Given the description of an element on the screen output the (x, y) to click on. 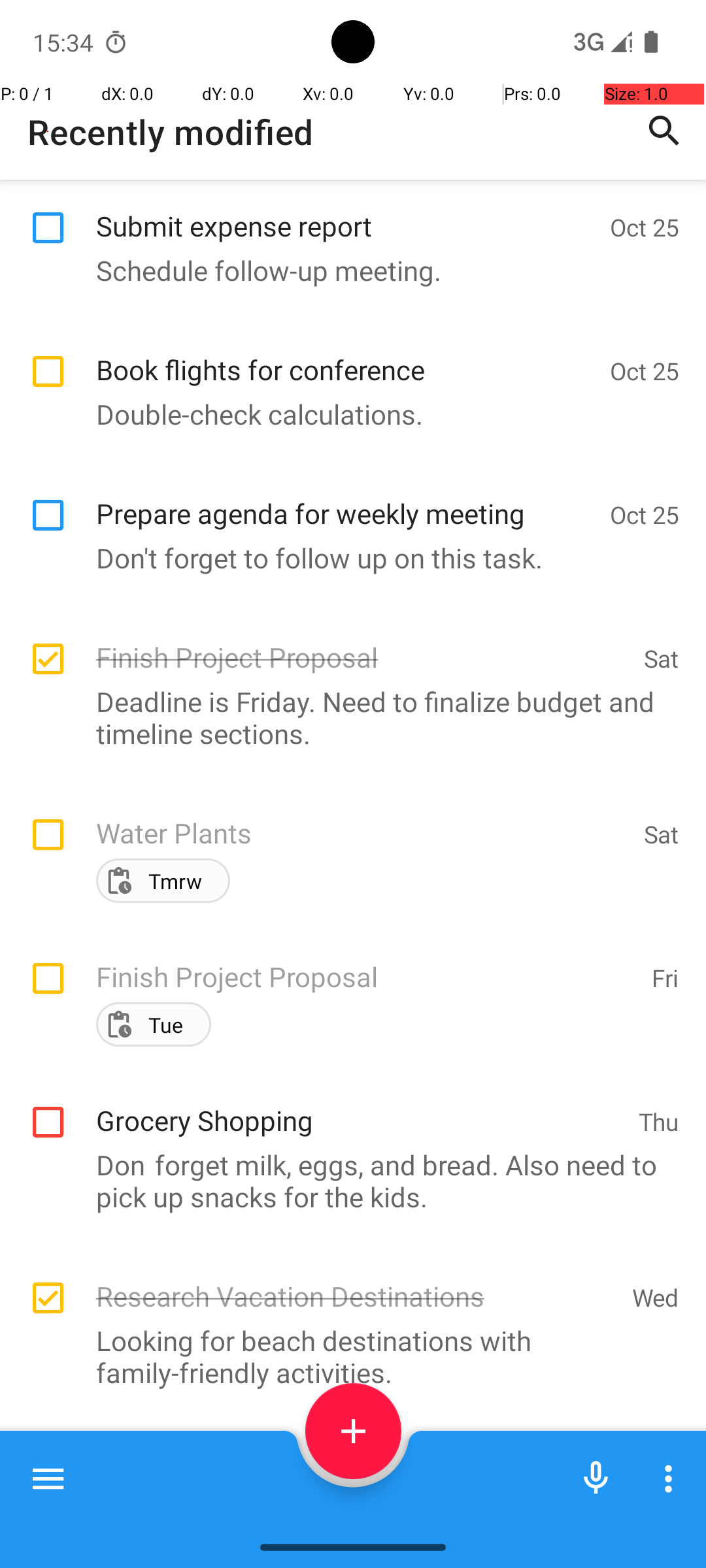
Recently modified Element type: android.widget.TextView (170, 131)
Submit expense report Element type: android.widget.TextView (346, 211)
Schedule follow-up meeting. Element type: android.widget.TextView (346, 269)
Oct 25 Element type: android.widget.TextView (644, 226)
Book flights for conference Element type: android.widget.TextView (346, 355)
Double-check calculations. Element type: android.widget.TextView (346, 413)
Prepare agenda for weekly meeting Element type: android.widget.TextView (346, 499)
Don't forget to follow up on this task. Element type: android.widget.TextView (346, 557)
